Given the description of an element on the screen output the (x, y) to click on. 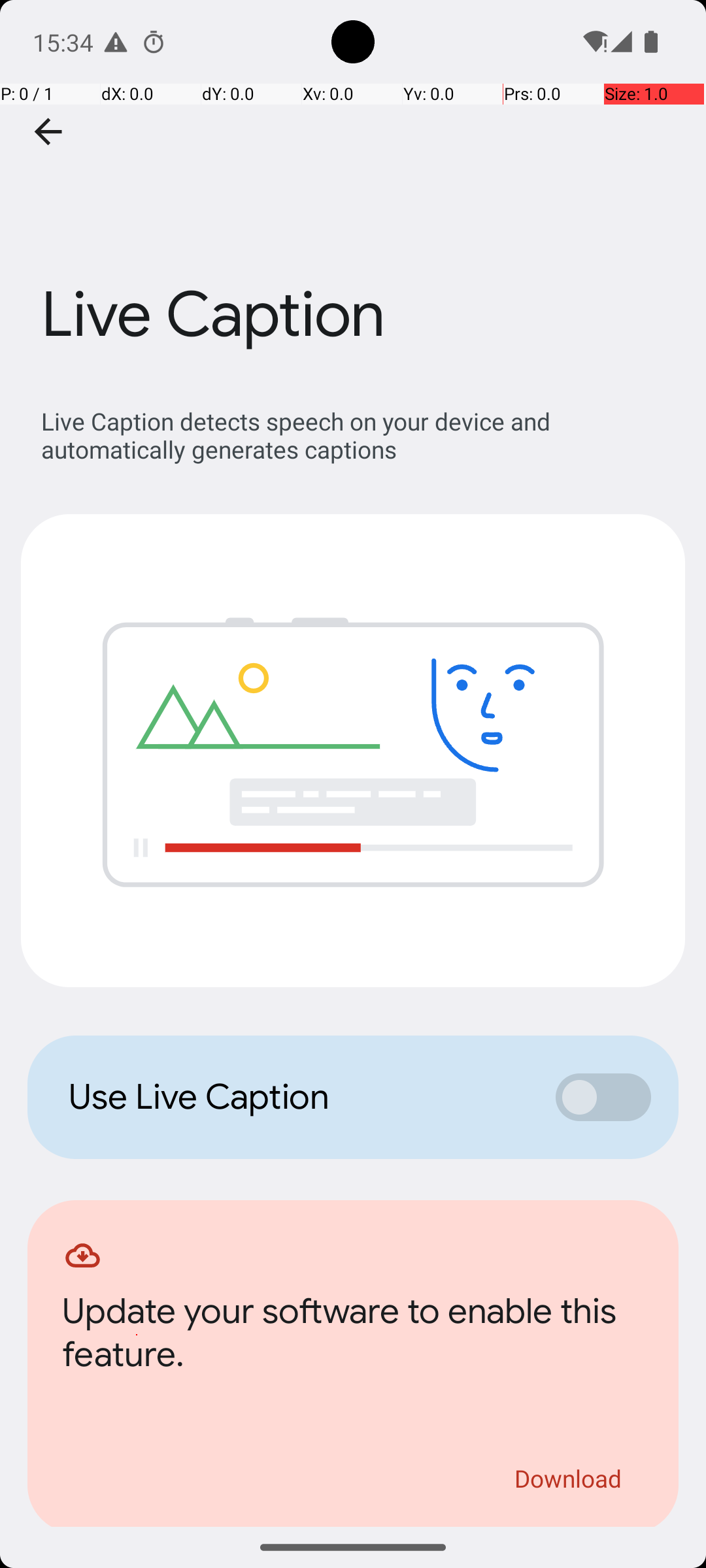
Live Caption Element type: android.widget.FrameLayout (353, 195)
Live Caption detects speech on your device and automatically generates captions Element type: android.widget.TextView (359, 434)
Use Live Caption Element type: android.widget.TextView (298, 1096)
Update your software to enable this feature. Element type: android.widget.TextView (352, 1336)
Download Element type: android.widget.Button (567, 1478)
Android System notification:  Element type: android.widget.ImageView (115, 41)
